Given the description of an element on the screen output the (x, y) to click on. 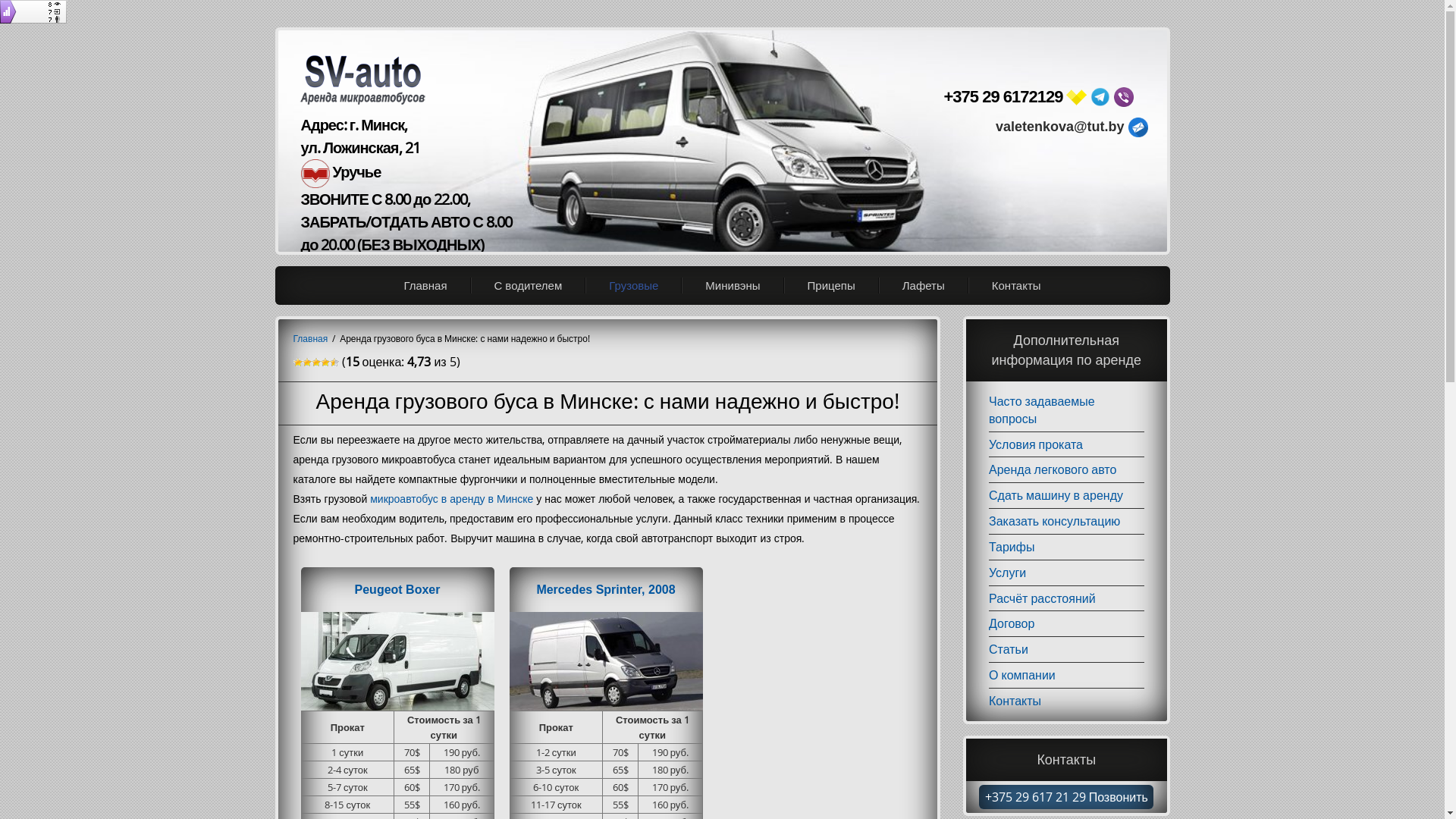
Mercedes Sprinter, 2008 Element type: text (605, 589)
svaut Element type: hover (1100, 96)
viber: +375(29)-117-07-87 Element type: hover (1123, 96)
Peugeot Boxer Element type: text (397, 589)
valetenkova@tut.by Element type: hover (1138, 127)
+375 29 6172129 Element type: text (1002, 96)
